Given the description of an element on the screen output the (x, y) to click on. 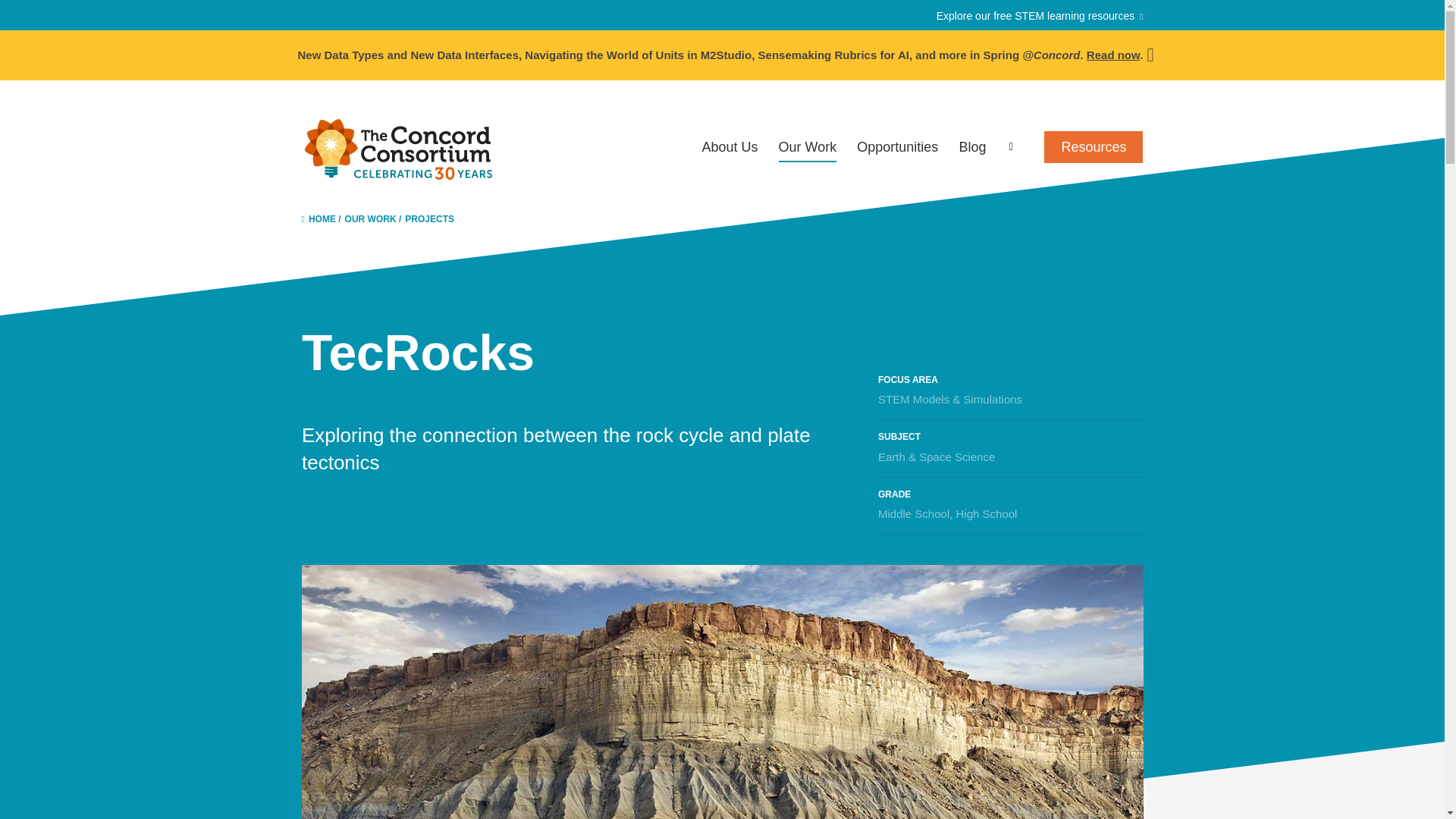
Explore our free STEM learning resources (1039, 15)
Blog (971, 147)
PROJECTS (429, 218)
Our Work (807, 150)
High School (985, 513)
OUR WORK (370, 218)
Opportunities (897, 147)
Middle School (913, 513)
About Us (729, 147)
HOME (318, 218)
Resources (1093, 146)
